Given the description of an element on the screen output the (x, y) to click on. 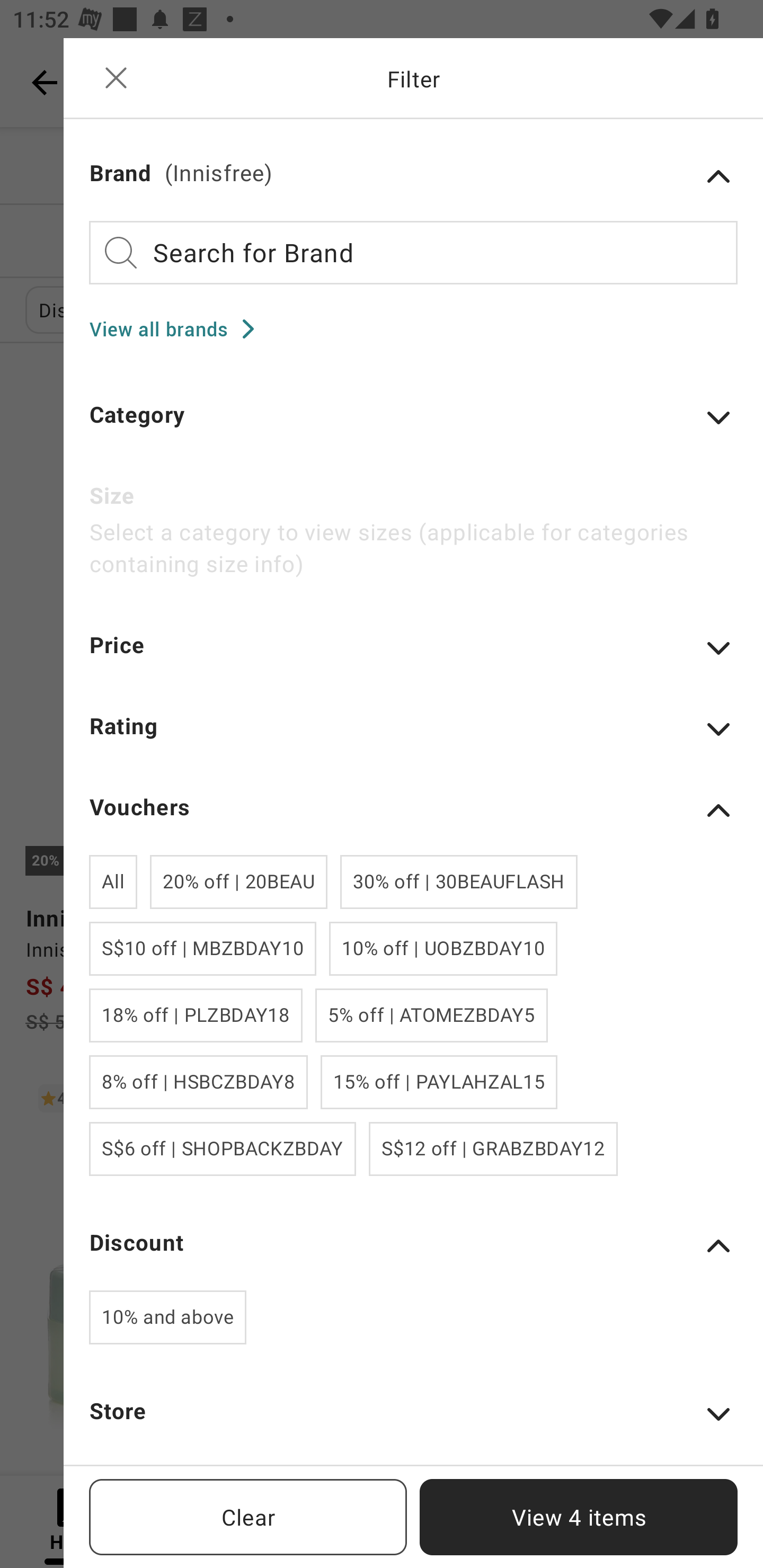
Brand (Innisfree) (413, 176)
Search for Brand (413, 252)
View all brands (177, 328)
Category (413, 426)
Price (413, 656)
Rating (413, 738)
Vouchers (413, 810)
All (113, 881)
20% off | 20BEAU (238, 881)
30% off | 30BEAUFLASH (458, 881)
S$10 off | MBZBDAY10 (202, 948)
10% off | UOBZBDAY10 (442, 948)
18% off | PLZBDAY18 (195, 1014)
5% off | ATOMEZBDAY5 (431, 1014)
8% off | HSBCZBDAY8 (198, 1081)
15% off | PAYLAHZAL15 (438, 1081)
S$6 off | SHOPBACKZBDAY (222, 1149)
S$12 off | GRABZBDAY12 (493, 1149)
Discount (413, 1245)
10% and above (167, 1316)
Store (413, 1422)
Clear (247, 1516)
View 4 items (578, 1516)
